Given the description of an element on the screen output the (x, y) to click on. 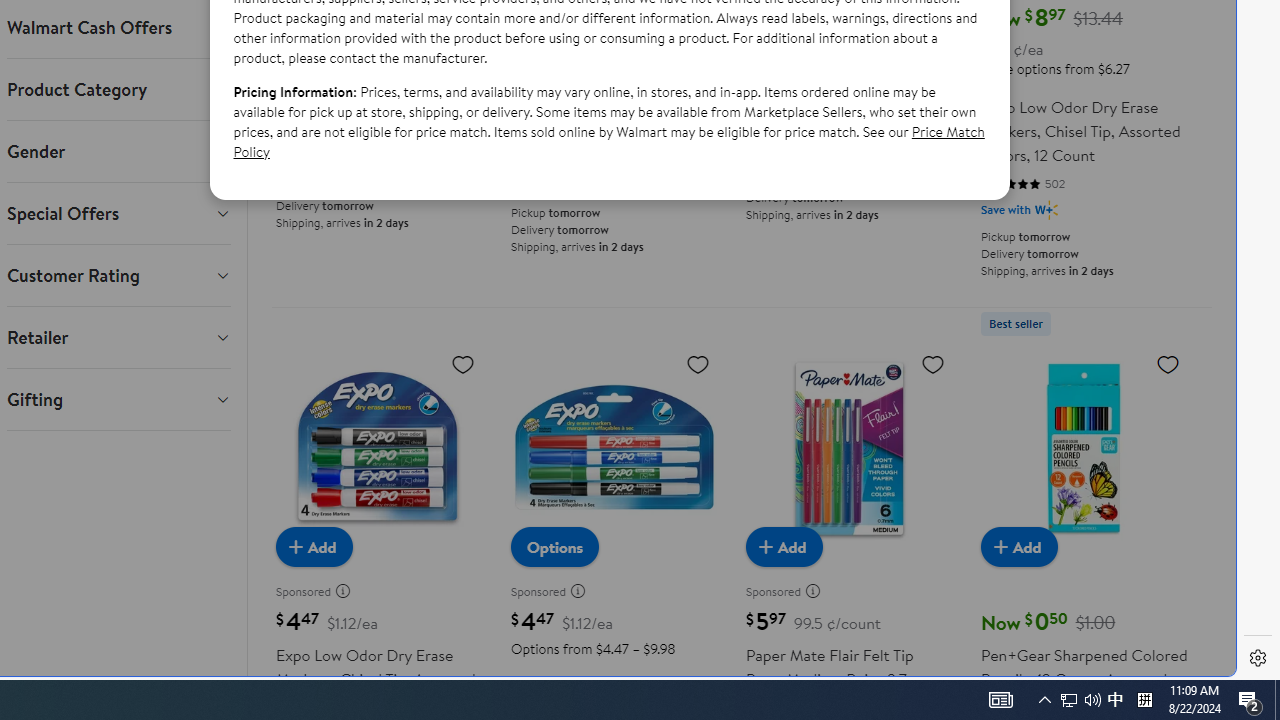
Notification Chevron (1044, 699)
Tray Input Indicator - Chinese (Simplified, China) (1144, 699)
Action Center, 2 new notifications (1069, 699)
Q2790: 100% (1250, 699)
User Promoted Notification Area (1092, 699)
Show desktop (1080, 699)
AutomationID: 4105 (1277, 699)
Price Match Policy (1000, 699)
